Given the description of an element on the screen output the (x, y) to click on. 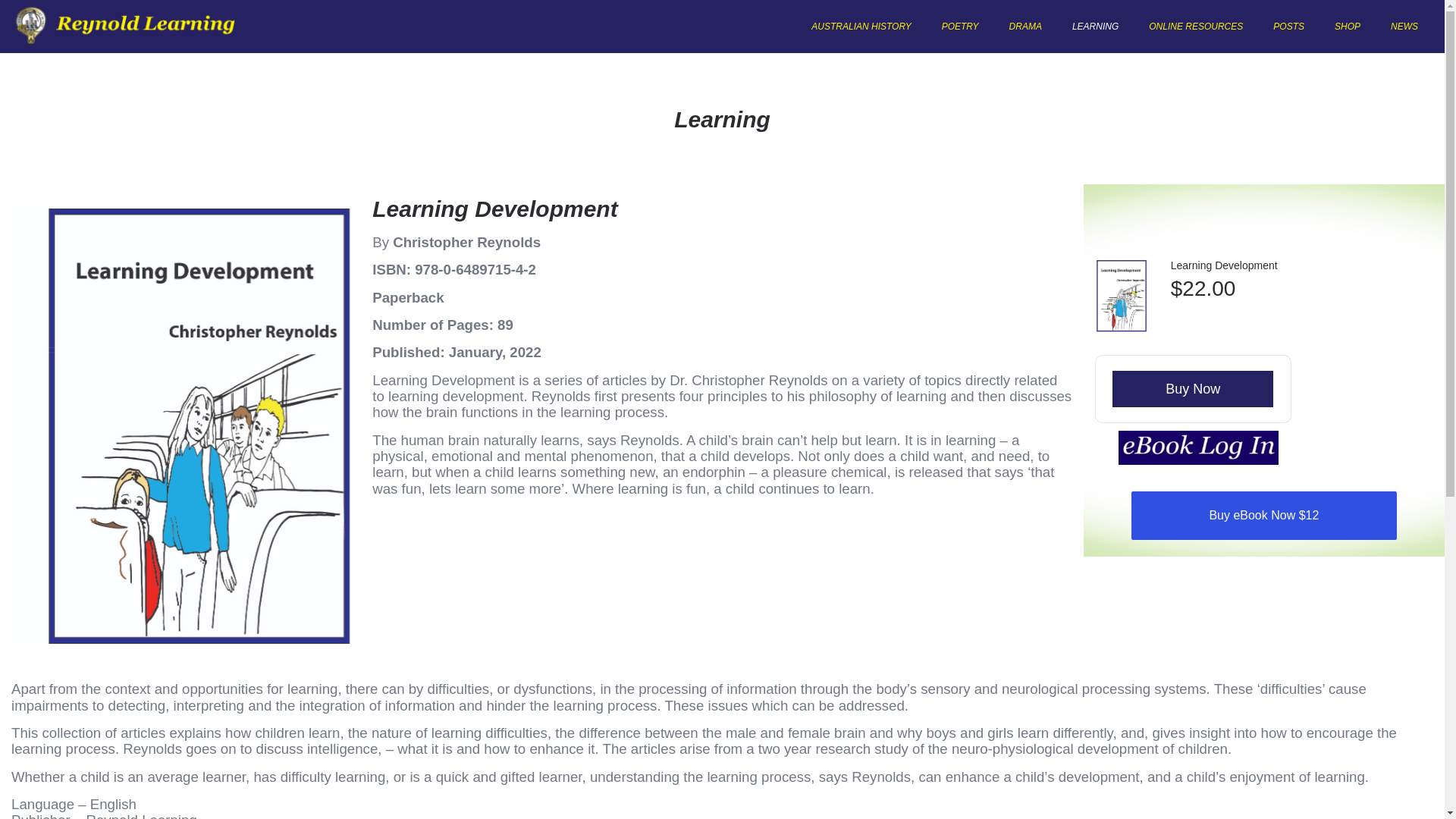
Buy Now (1192, 389)
ONLINE RESOURCES (1195, 26)
POETRY (960, 26)
DRAMA (1025, 26)
SHOP (1347, 26)
POSTS (1288, 26)
Learning Development (1224, 265)
LEARNING (1095, 26)
AUSTRALIAN HISTORY (861, 26)
NEWS (1403, 26)
